Given the description of an element on the screen output the (x, y) to click on. 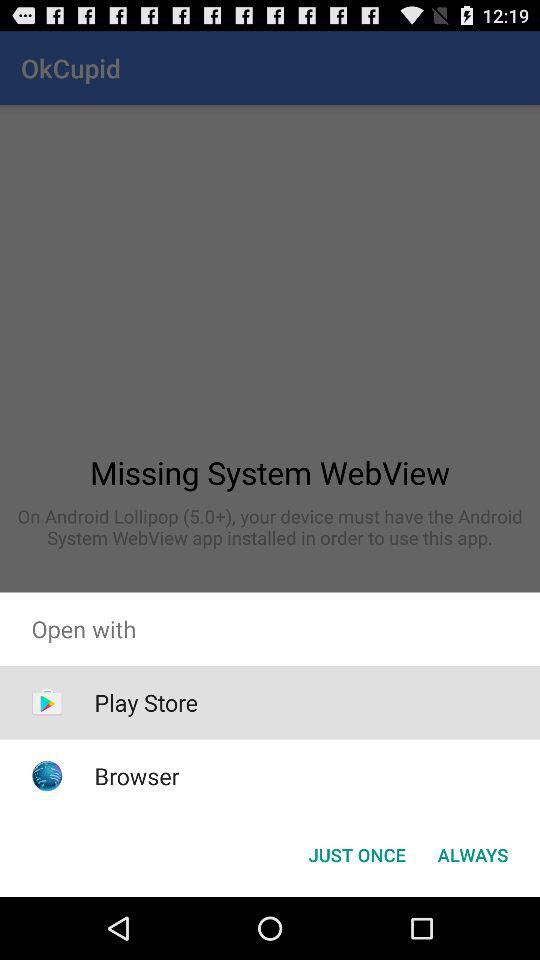
launch play store (146, 702)
